Given the description of an element on the screen output the (x, y) to click on. 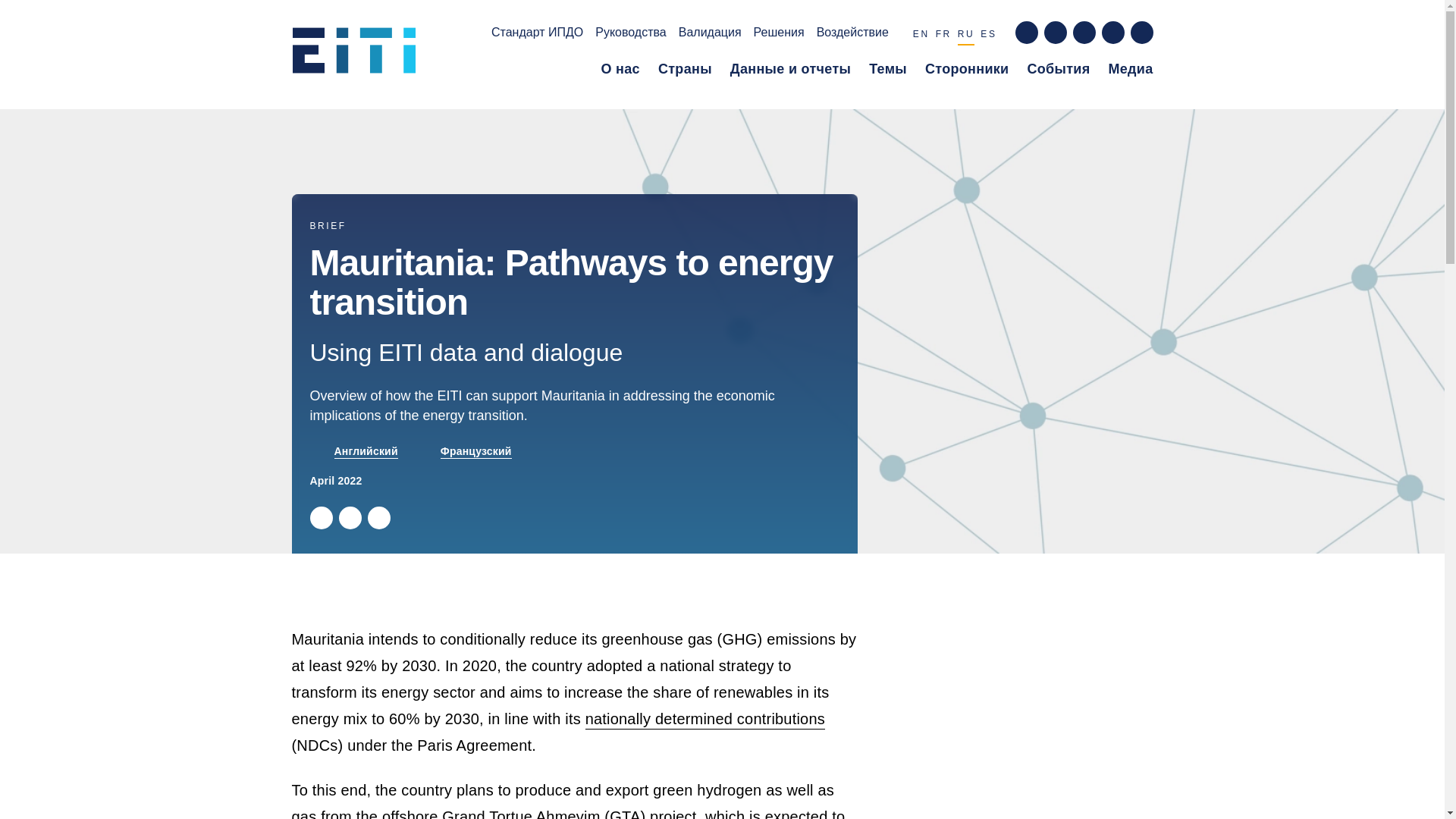
Follow us on Linkedin (1082, 32)
Find us on YouTube (1112, 32)
Twitter (319, 517)
RU (966, 36)
ES (987, 36)
Find us on Facebook (1025, 32)
EN (921, 36)
FR (944, 36)
Facebook (349, 517)
Follow us on Twitter (1054, 32)
Linkedin (378, 517)
Return to the homepage (358, 55)
News and blogs (1130, 71)
